Given the description of an element on the screen output the (x, y) to click on. 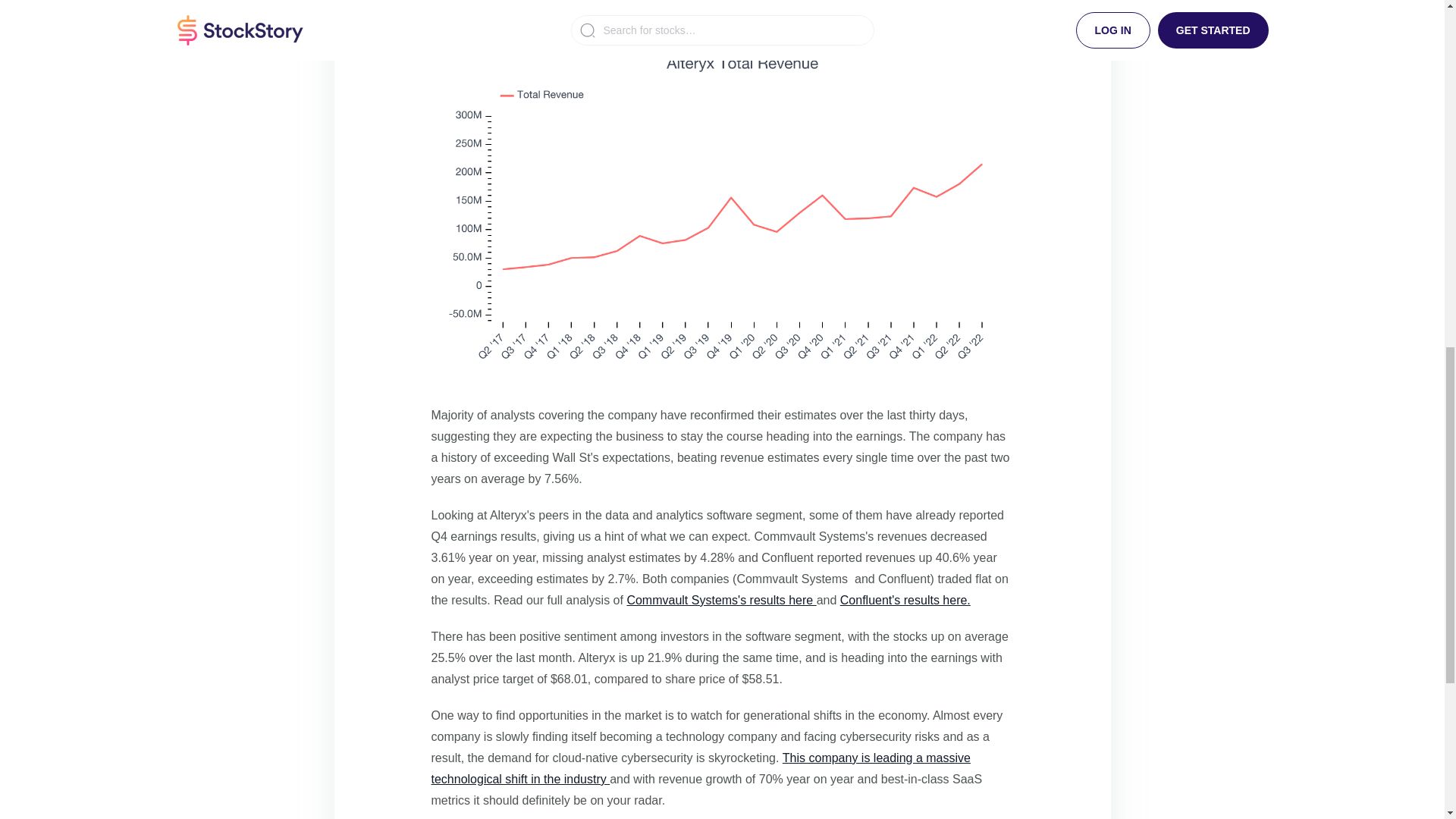
Commvault Systems's results here (720, 599)
Confluent's results here. (905, 599)
